Given the description of an element on the screen output the (x, y) to click on. 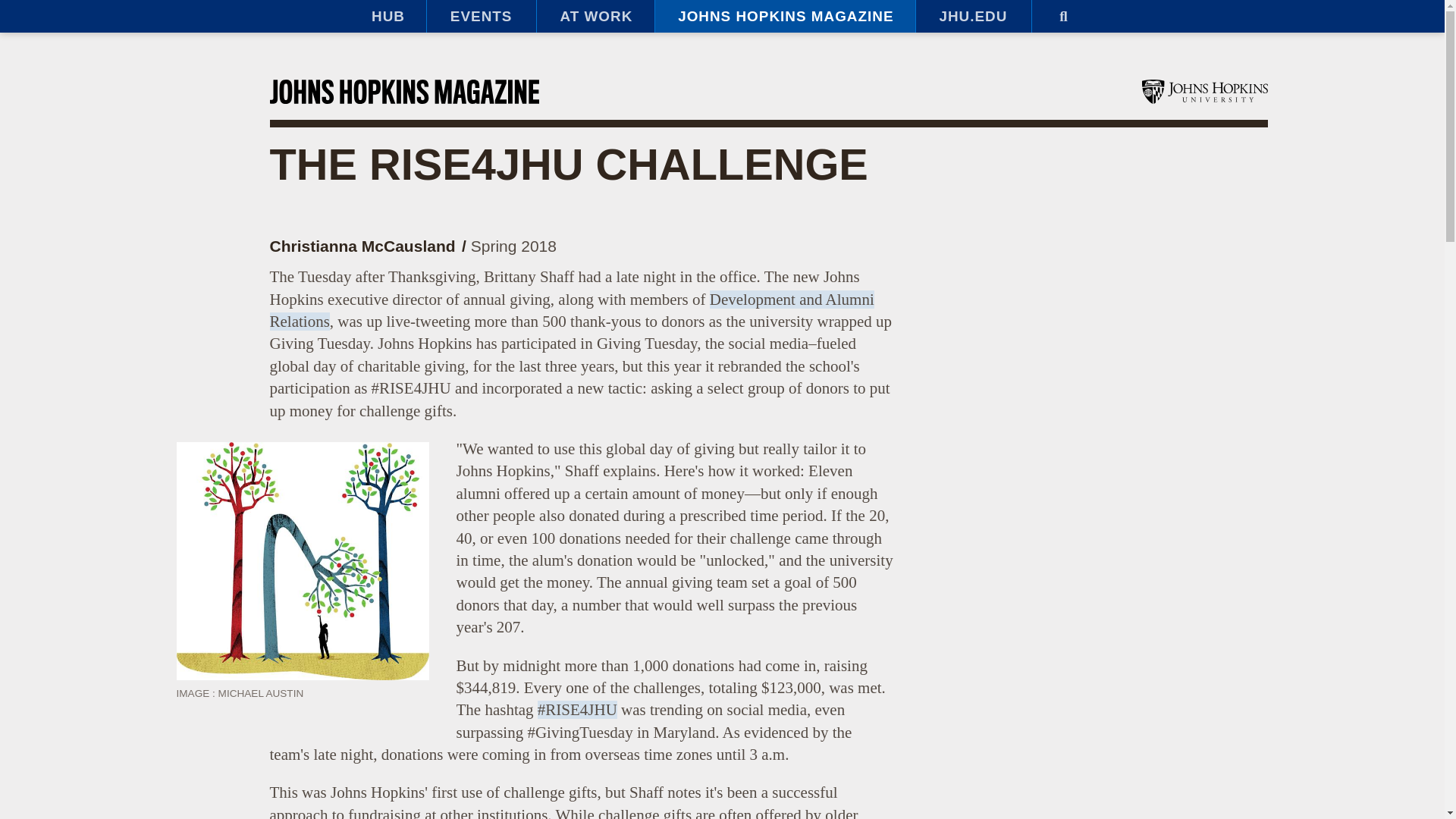
JHU.EDU (972, 16)
JOHNS HOPKINS MAGAZINE (784, 16)
Johns Hopkins University (1204, 91)
AT WORK (594, 16)
HUB (386, 16)
Development and Alumni Relations (572, 310)
EVENTS (480, 16)
